Given the description of an element on the screen output the (x, y) to click on. 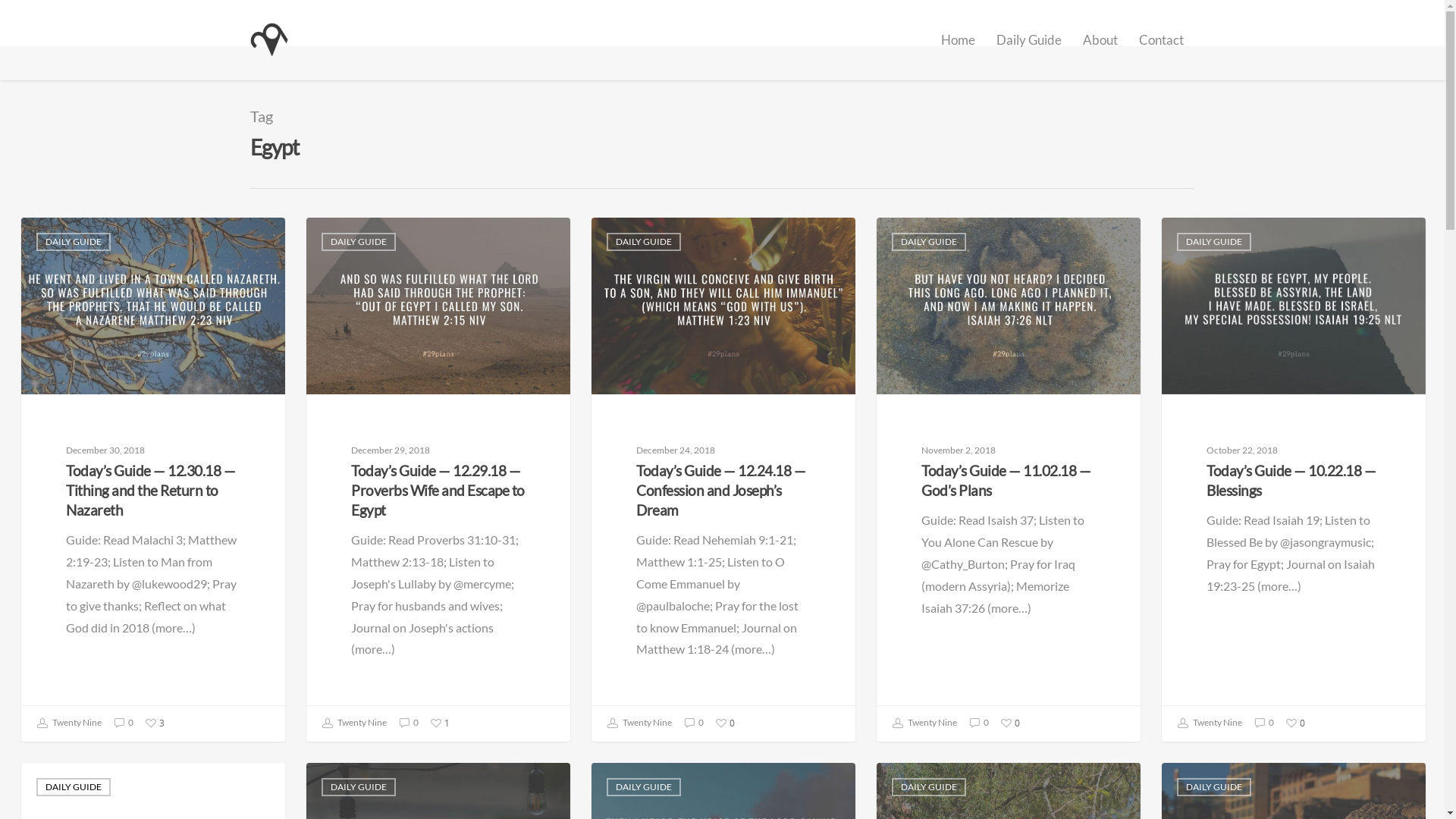
DAILY GUIDE Element type: text (358, 787)
0 Element type: text (1264, 723)
Twenty Nine Element type: text (924, 723)
DAILY GUIDE Element type: text (643, 241)
DAILY GUIDE Element type: text (73, 787)
Contact Element type: text (1161, 50)
DAILY GUIDE Element type: text (928, 787)
DAILY GUIDE Element type: text (643, 787)
Twenty Nine Element type: text (1209, 723)
DAILY GUIDE Element type: text (73, 241)
DAILY GUIDE Element type: text (1213, 787)
0 Element type: text (693, 723)
DAILY GUIDE Element type: text (1213, 241)
0 Element type: text (1010, 720)
0 Element type: text (408, 723)
0 Element type: text (978, 723)
Twenty Nine Element type: text (639, 723)
0 Element type: text (123, 723)
About Element type: text (1100, 50)
Twenty Nine Element type: text (69, 723)
DAILY GUIDE Element type: text (928, 241)
1 Element type: text (439, 720)
Home Element type: text (958, 50)
Twenty Nine Element type: text (354, 723)
0 Element type: text (1295, 720)
DAILY GUIDE Element type: text (358, 241)
Daily Guide Element type: text (1028, 50)
0 Element type: text (724, 720)
3 Element type: text (154, 720)
